Given the description of an element on the screen output the (x, y) to click on. 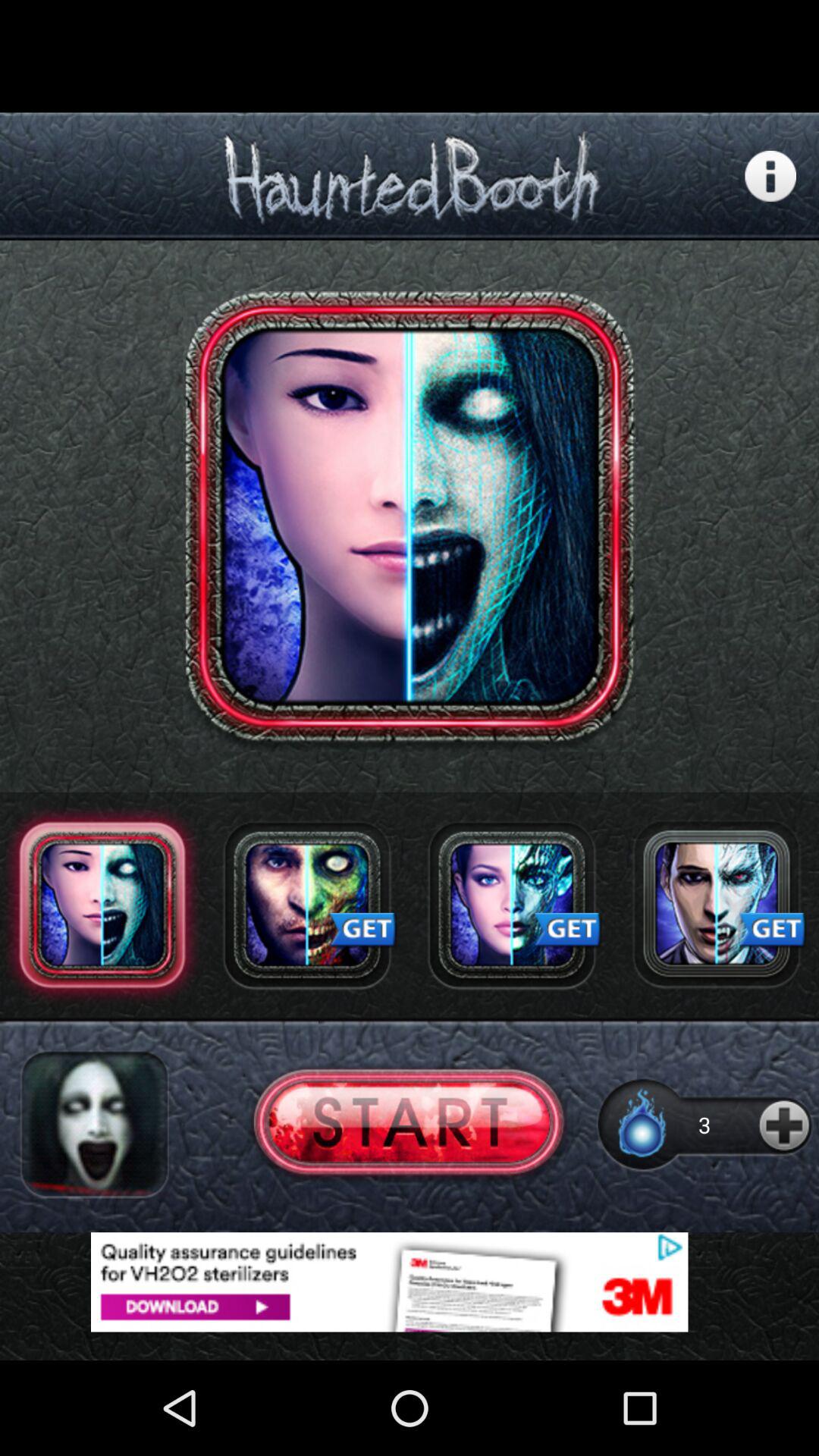
start the zombifier (409, 1124)
